Given the description of an element on the screen output the (x, y) to click on. 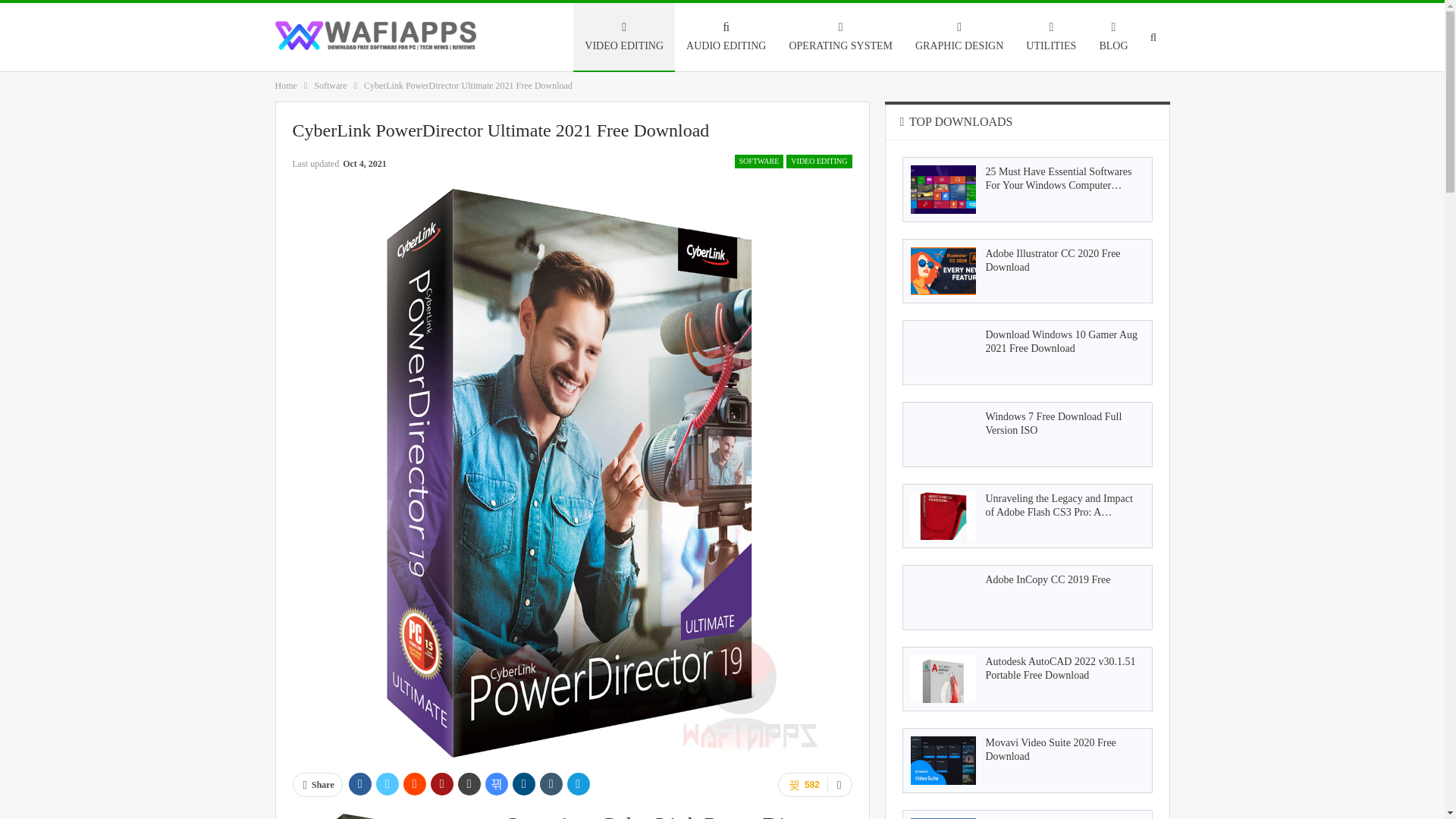
VIDEO EDITING (624, 37)
Home (286, 85)
SOFTWARE (759, 161)
OPERATING SYSTEM (840, 37)
UTILITIES (1050, 37)
GRAPHIC DESIGN (959, 37)
AUDIO EDITING (726, 37)
Software (330, 85)
VIDEO EDITING (818, 161)
